Given the description of an element on the screen output the (x, y) to click on. 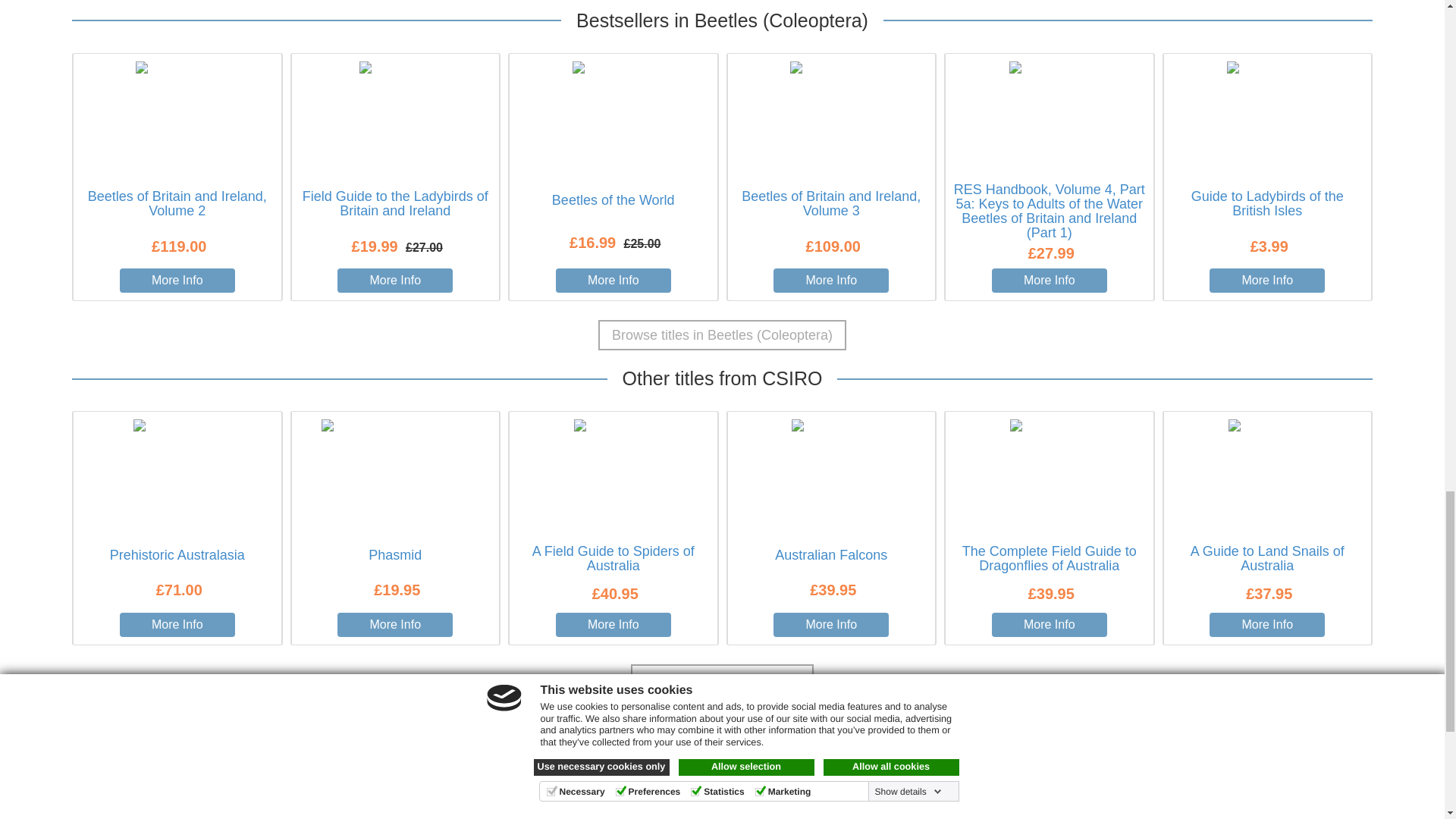
Sign up here (841, 741)
